Given the description of an element on the screen output the (x, y) to click on. 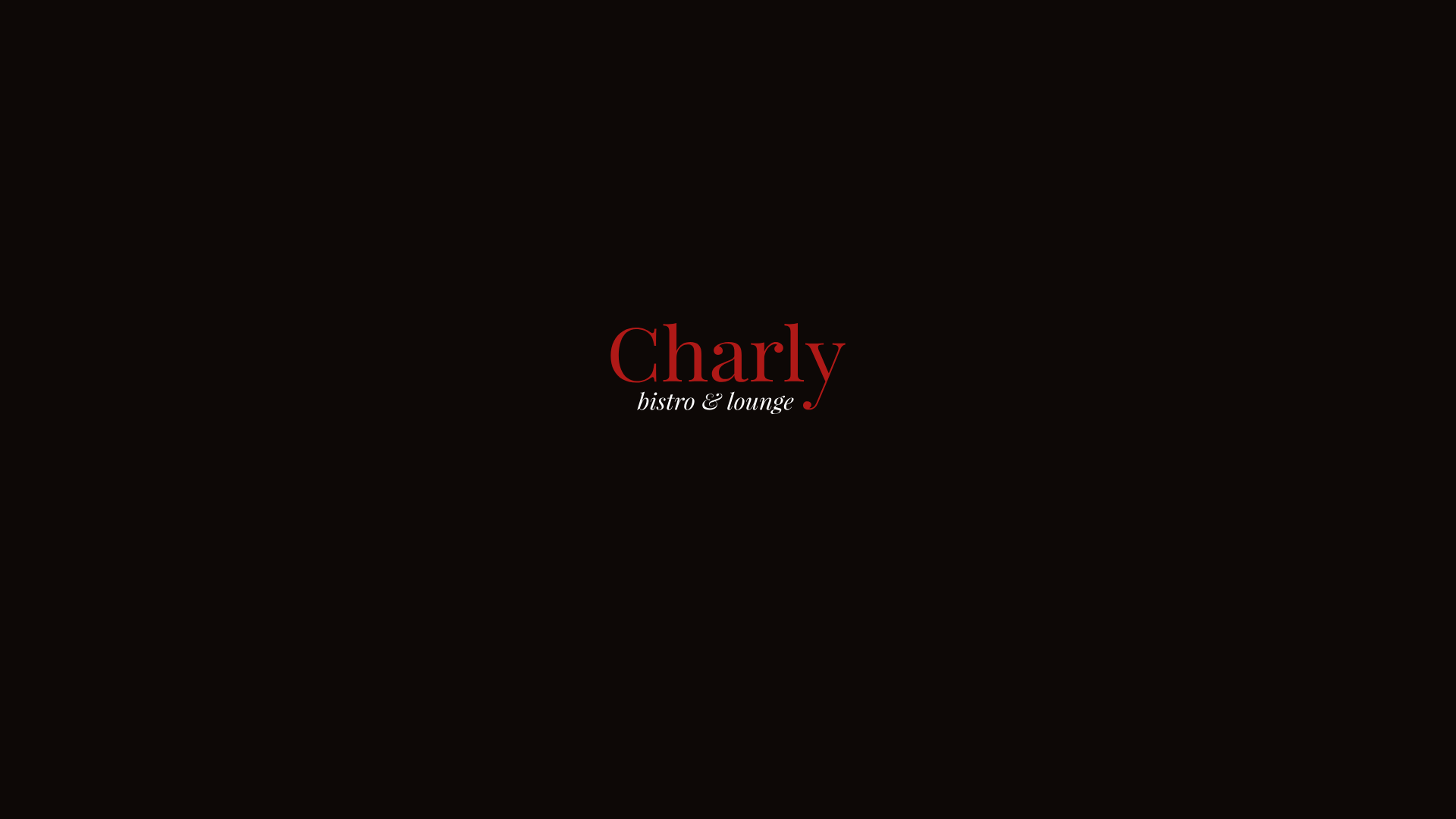
EN Element type: text (69, 798)
DE Element type: text (106, 798)
